Given the description of an element on the screen output the (x, y) to click on. 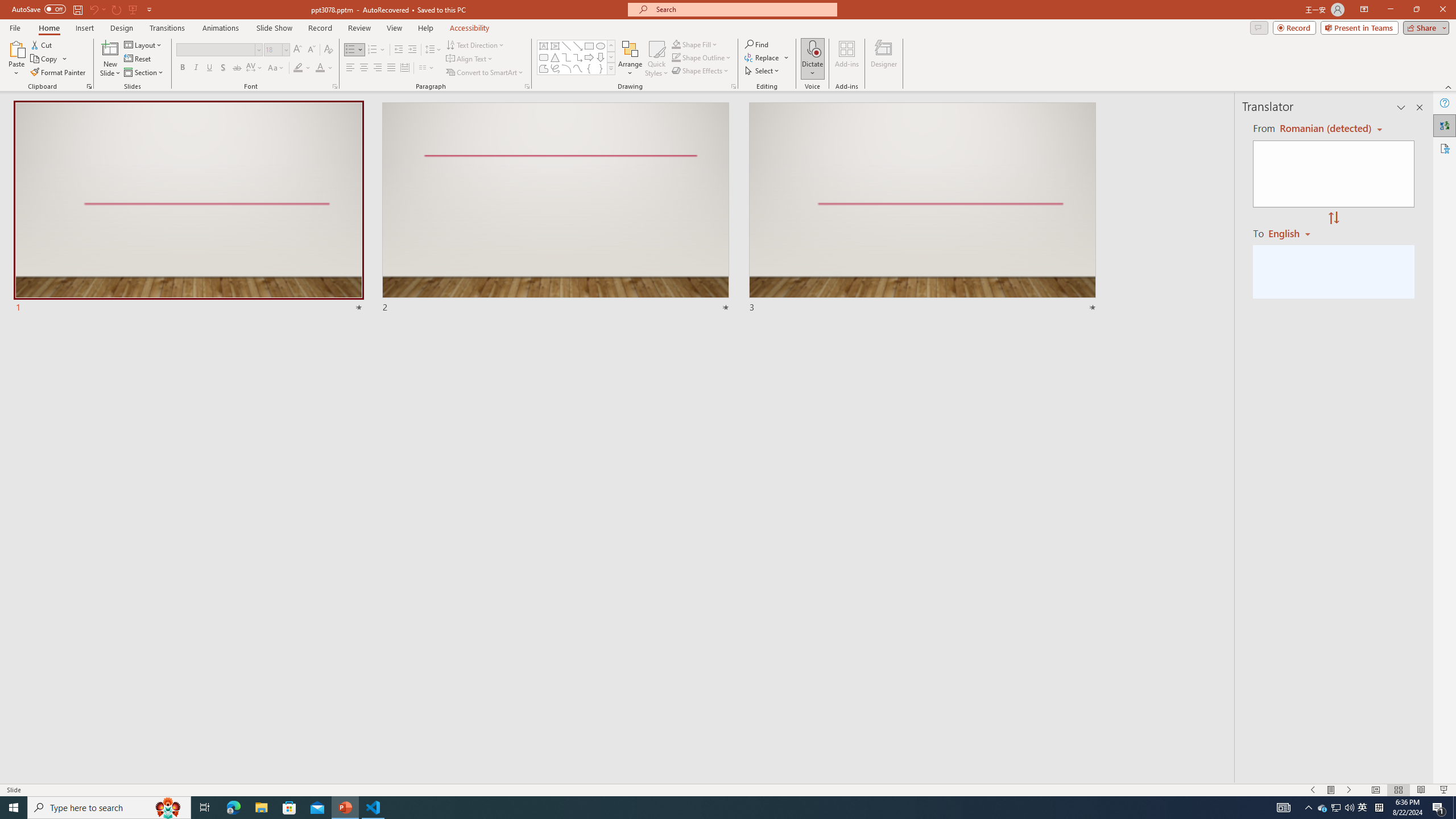
Connector: Elbow Arrow (577, 57)
Align Text (470, 58)
Vertical Text Box (554, 45)
Arrange (630, 58)
